Given the description of an element on the screen output the (x, y) to click on. 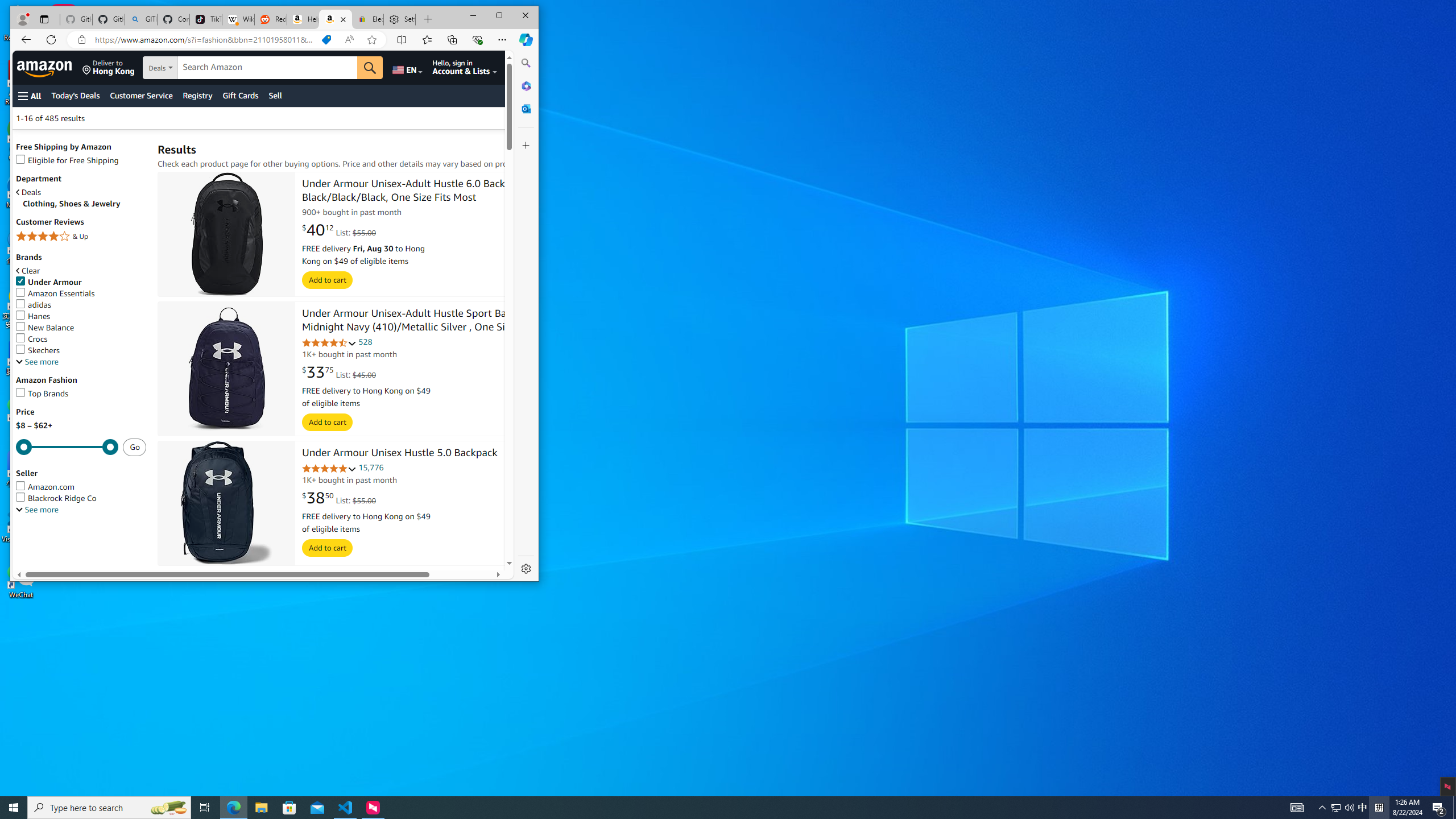
Crocs (80, 338)
Eligible for Free Shipping (1335, 807)
Top Brands (80, 160)
Choose a language for shopping. (80, 393)
adidas (406, 67)
Skip to main search results (33, 304)
Task View (61, 564)
Amazon Essentials (204, 807)
Go back to filtering menu (80, 293)
